Given the description of an element on the screen output the (x, y) to click on. 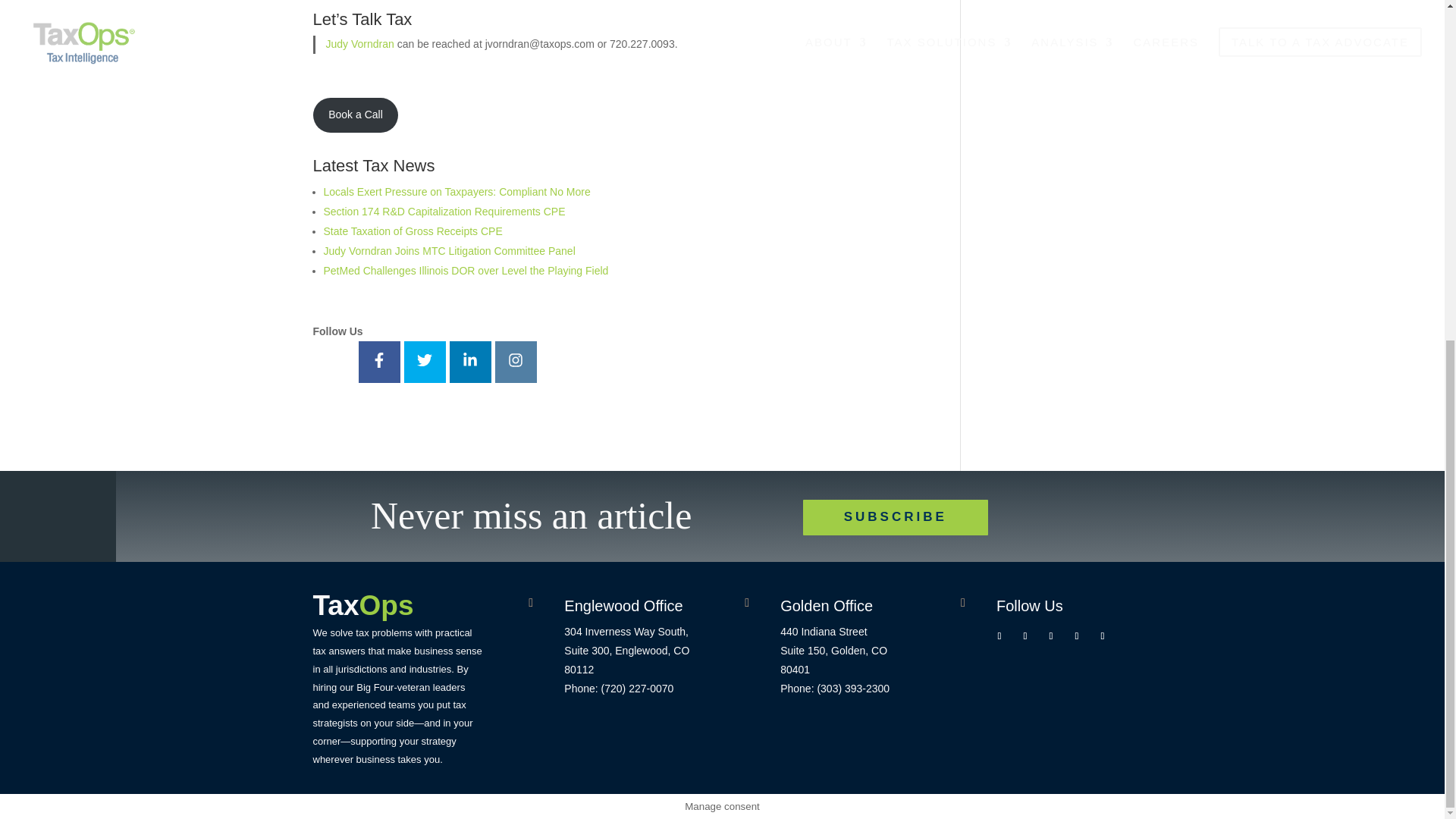
PetMed Challenges Illinois DOR over Level the Playing Field (465, 270)
Judy Vorndran Joins MTC Litigation Committee Panel (449, 250)
Judy Vorndran (360, 43)
Follow on Instagram (1076, 636)
Follow on LinkedIn (1051, 636)
State Taxation of Gross Receipts CPE (412, 231)
Follow on Facebook (999, 636)
Book a Call (355, 114)
Locals Exert Pressure on Taxpayers: Compliant No More (456, 191)
Follow on Twitter (1024, 636)
Follow on RSS (1102, 636)
